Given the description of an element on the screen output the (x, y) to click on. 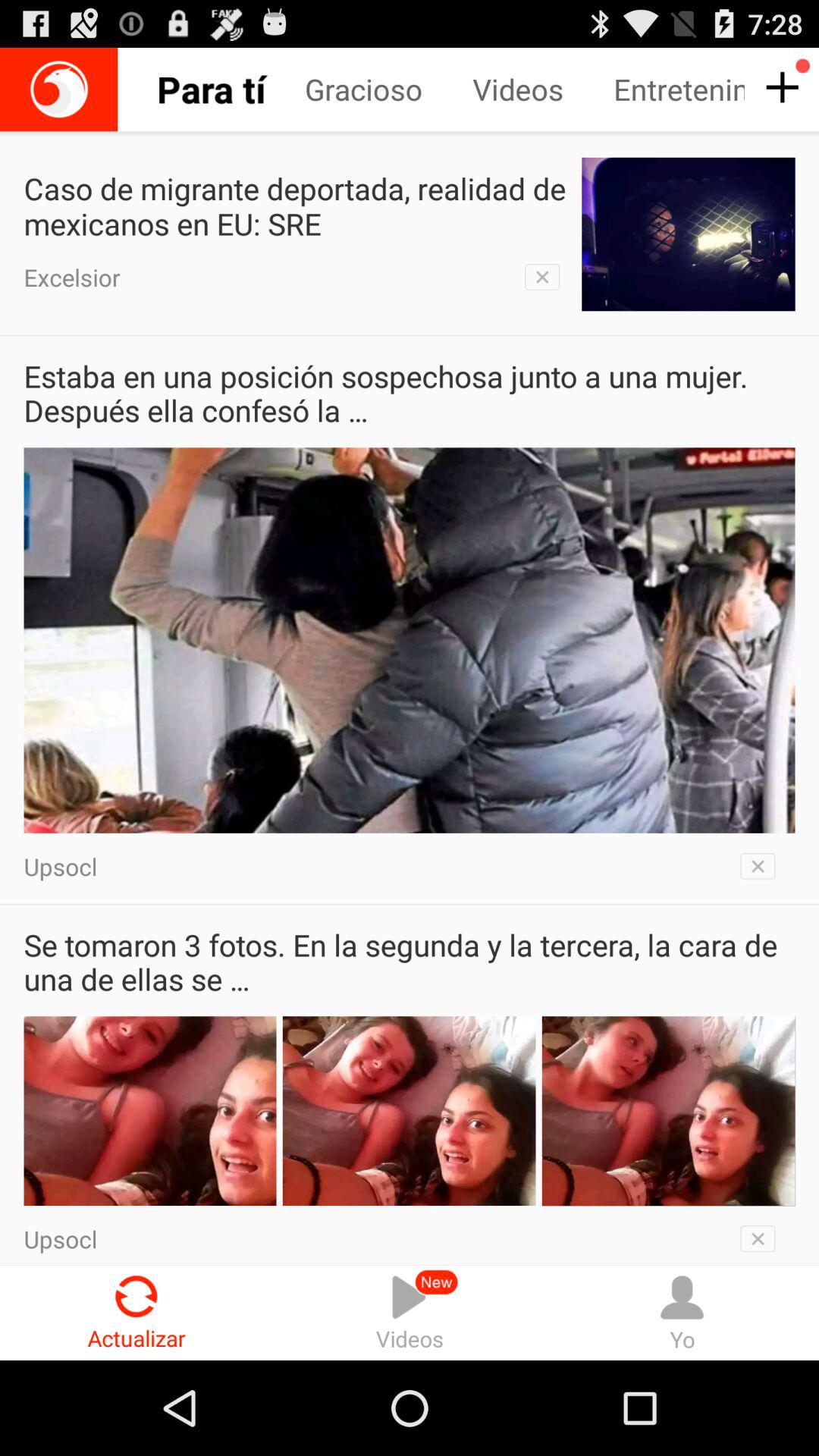
select icon next to videos icon (682, 1312)
